Given the description of an element on the screen output the (x, y) to click on. 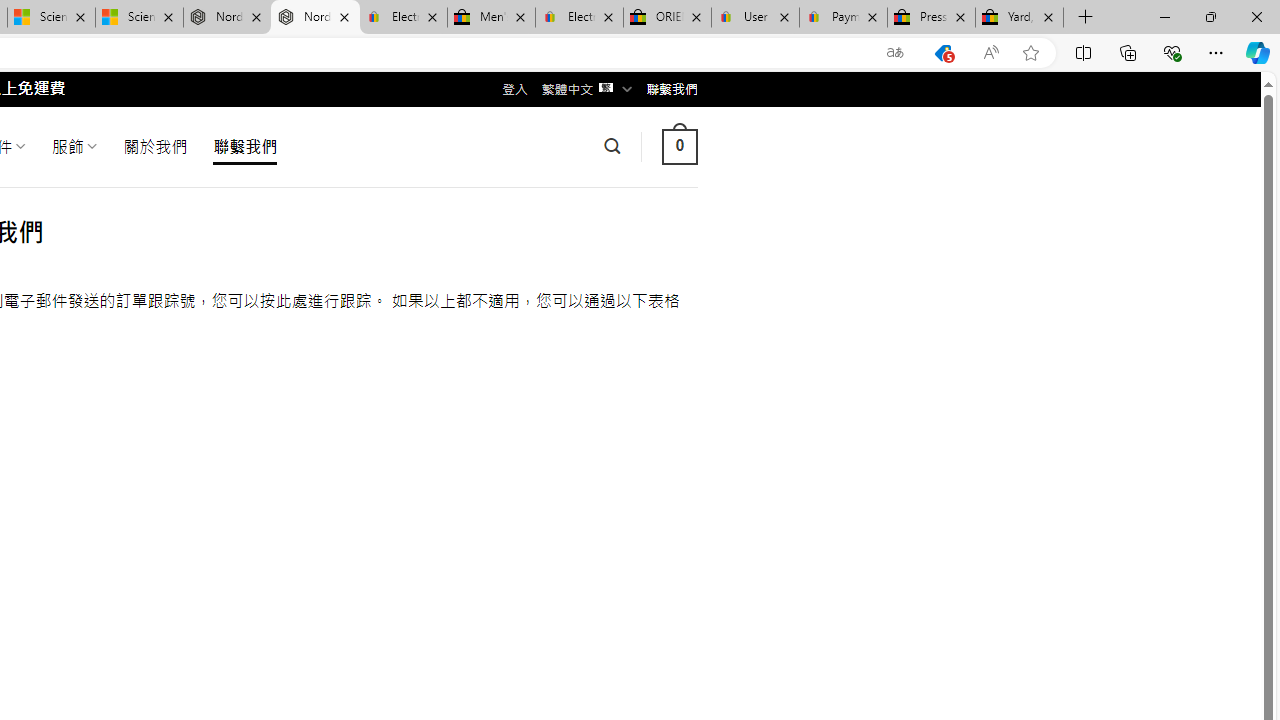
Nordace - Summer Adventures 2024 (227, 17)
  0   (679, 146)
 0  (679, 146)
